Given the description of an element on the screen output the (x, y) to click on. 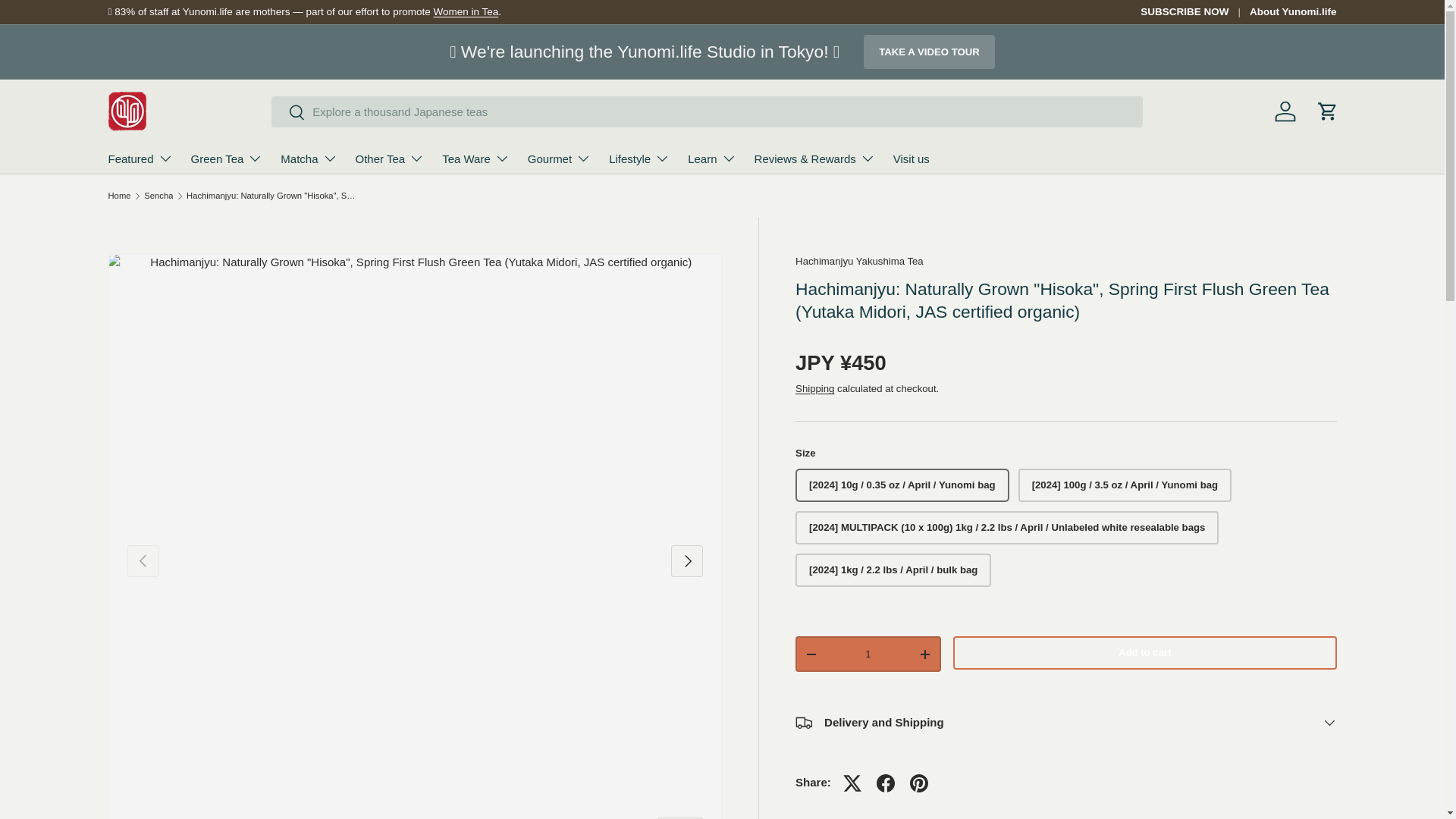
Women in Tea (464, 11)
Search (287, 113)
SUBSCRIBE NOW (1194, 11)
Tweet on X (852, 783)
Featured (139, 158)
Green Tea (226, 158)
1 (868, 654)
Share on Facebook (885, 783)
Women in Tea (464, 11)
TAKE A VIDEO TOUR (928, 51)
About Yunomi.life (1292, 11)
Log in (1284, 111)
Pin on Pinterest (919, 783)
Cart (1326, 111)
SKIP TO CONTENT (63, 23)
